Given the description of an element on the screen output the (x, y) to click on. 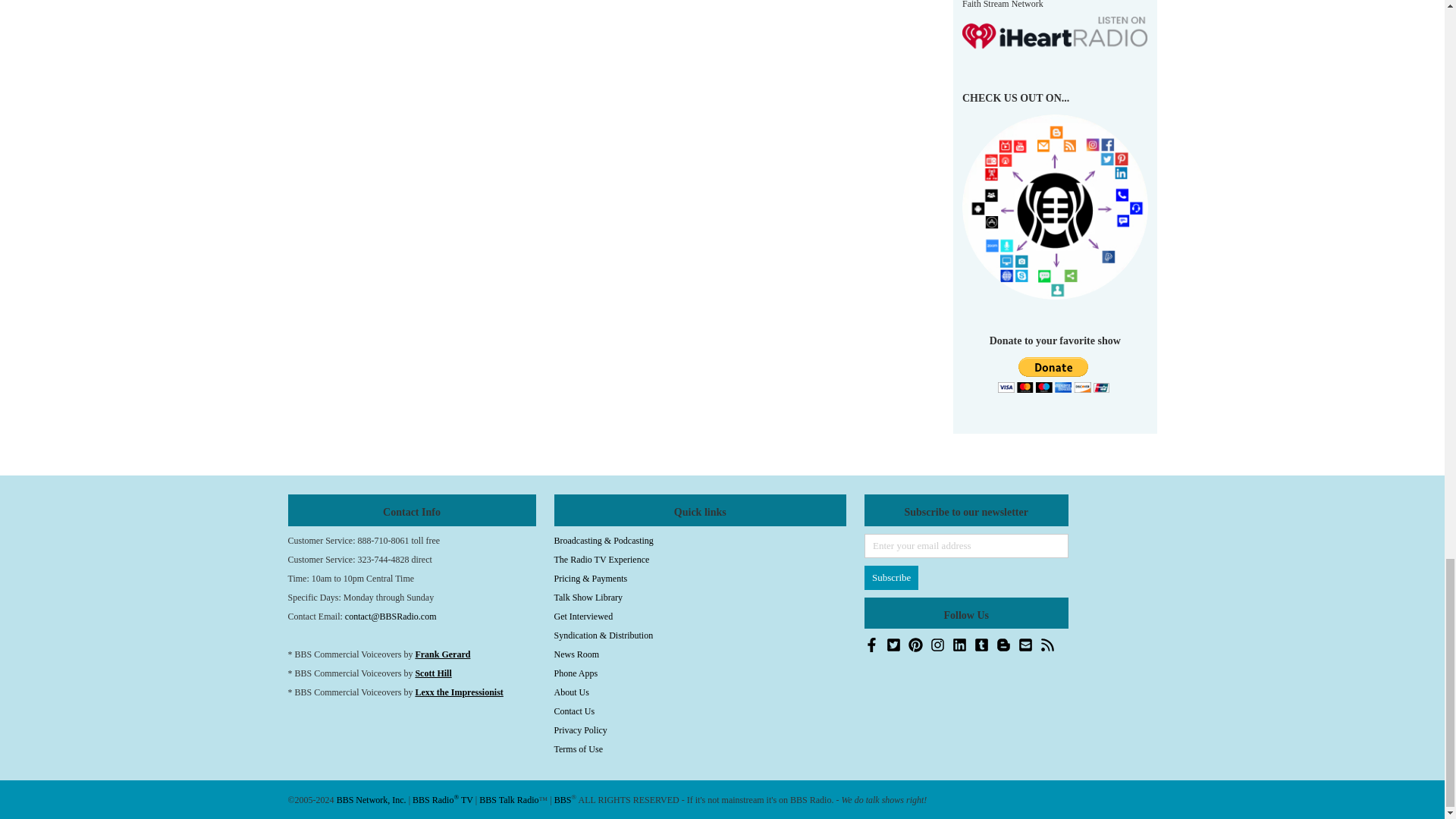
Subscribe (891, 577)
